Given the description of an element on the screen output the (x, y) to click on. 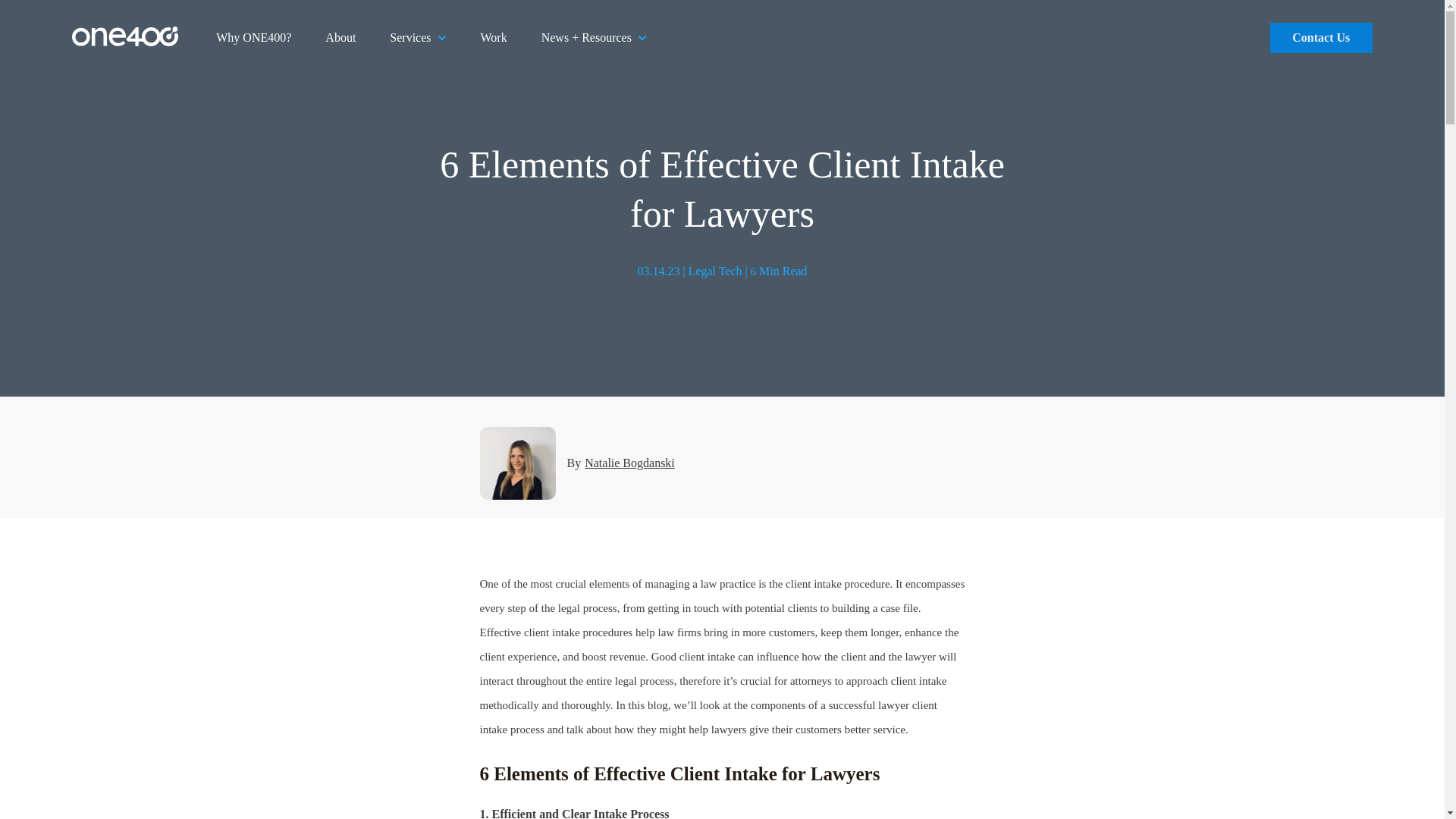
Services (417, 37)
Site Logo (124, 42)
About (339, 37)
Work (493, 37)
Contact Us (1321, 37)
Why ONE400? (253, 37)
